Given the description of an element on the screen output the (x, y) to click on. 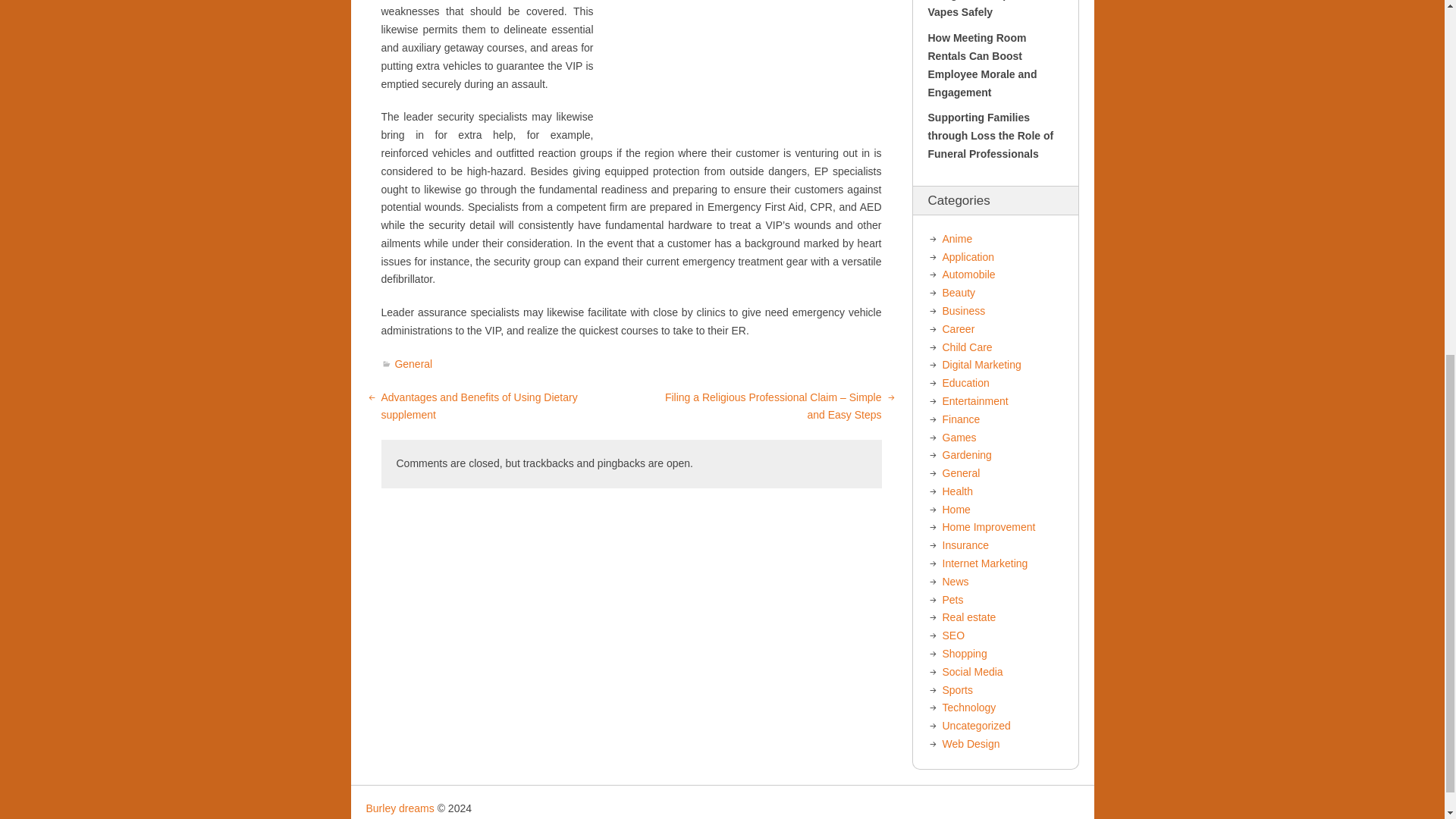
Anime (957, 238)
Gardening (966, 454)
General (413, 363)
Entertainment (974, 400)
Health (957, 491)
Application (968, 256)
Child Care (966, 346)
Business (963, 310)
Digital Marketing (981, 364)
